Given the description of an element on the screen output the (x, y) to click on. 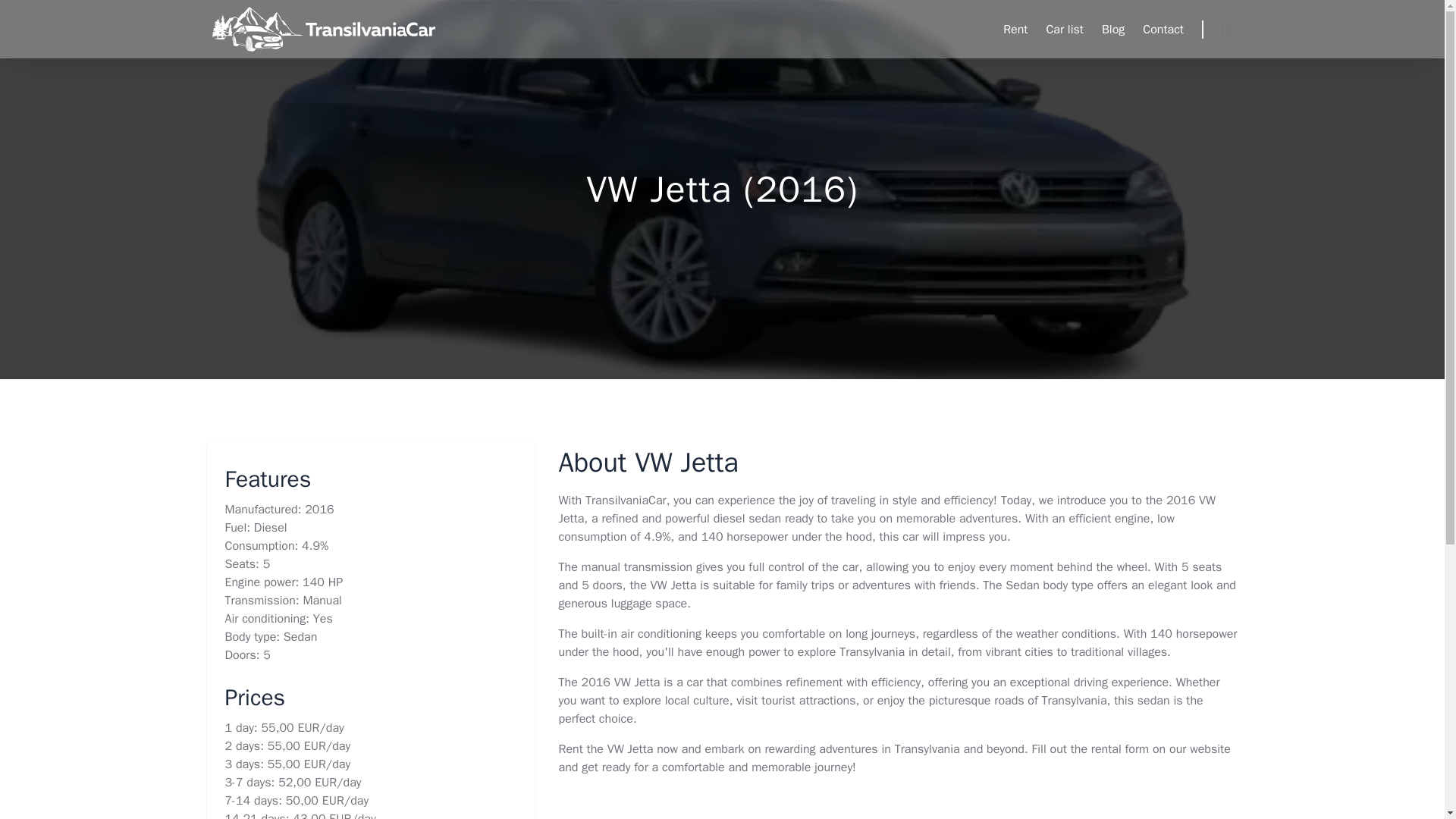
Rent (1015, 28)
Blog (1113, 28)
Contact (1162, 28)
Car list (1064, 28)
